Given the description of an element on the screen output the (x, y) to click on. 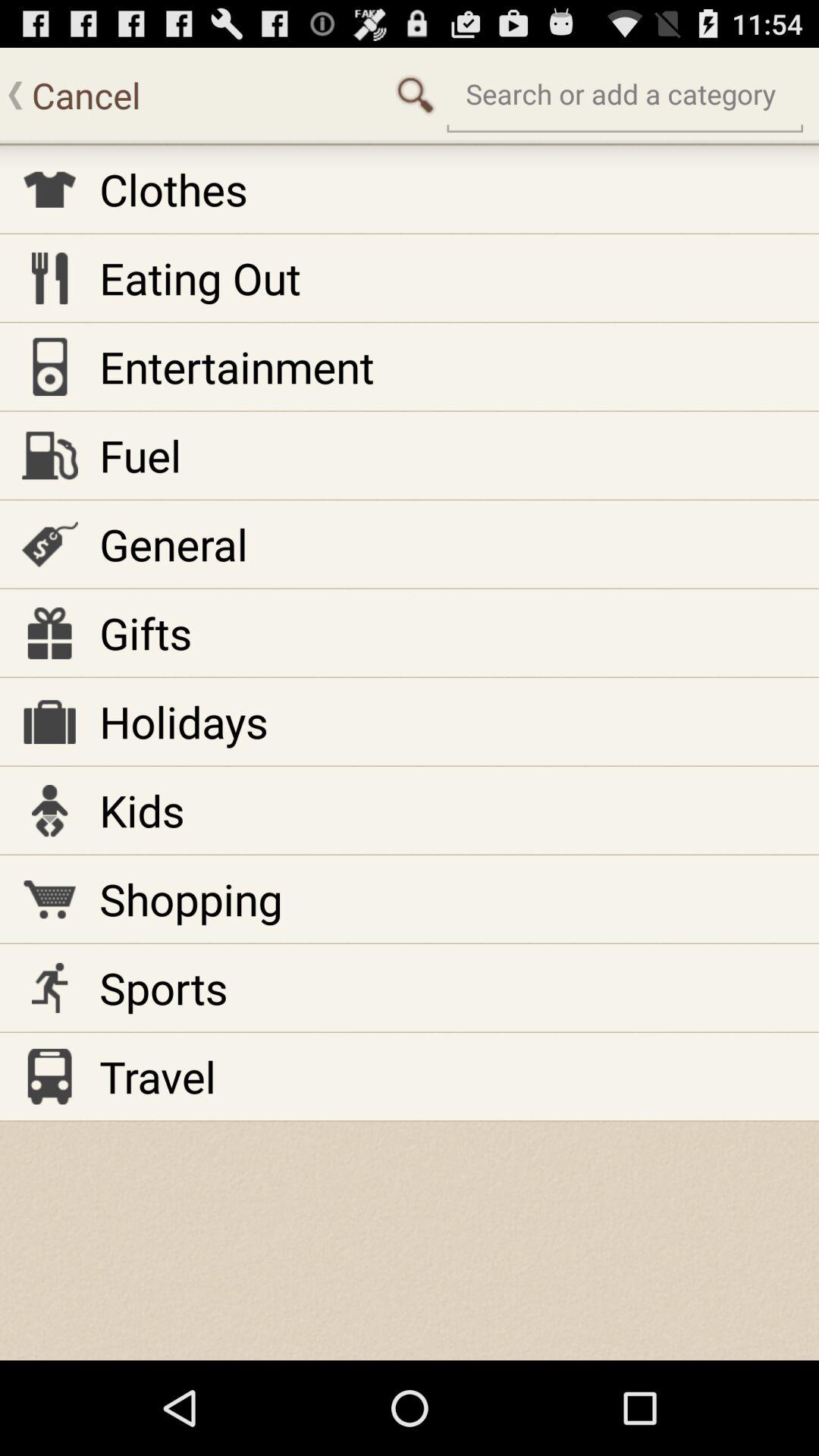
turn off the travel icon (157, 1076)
